Given the description of an element on the screen output the (x, y) to click on. 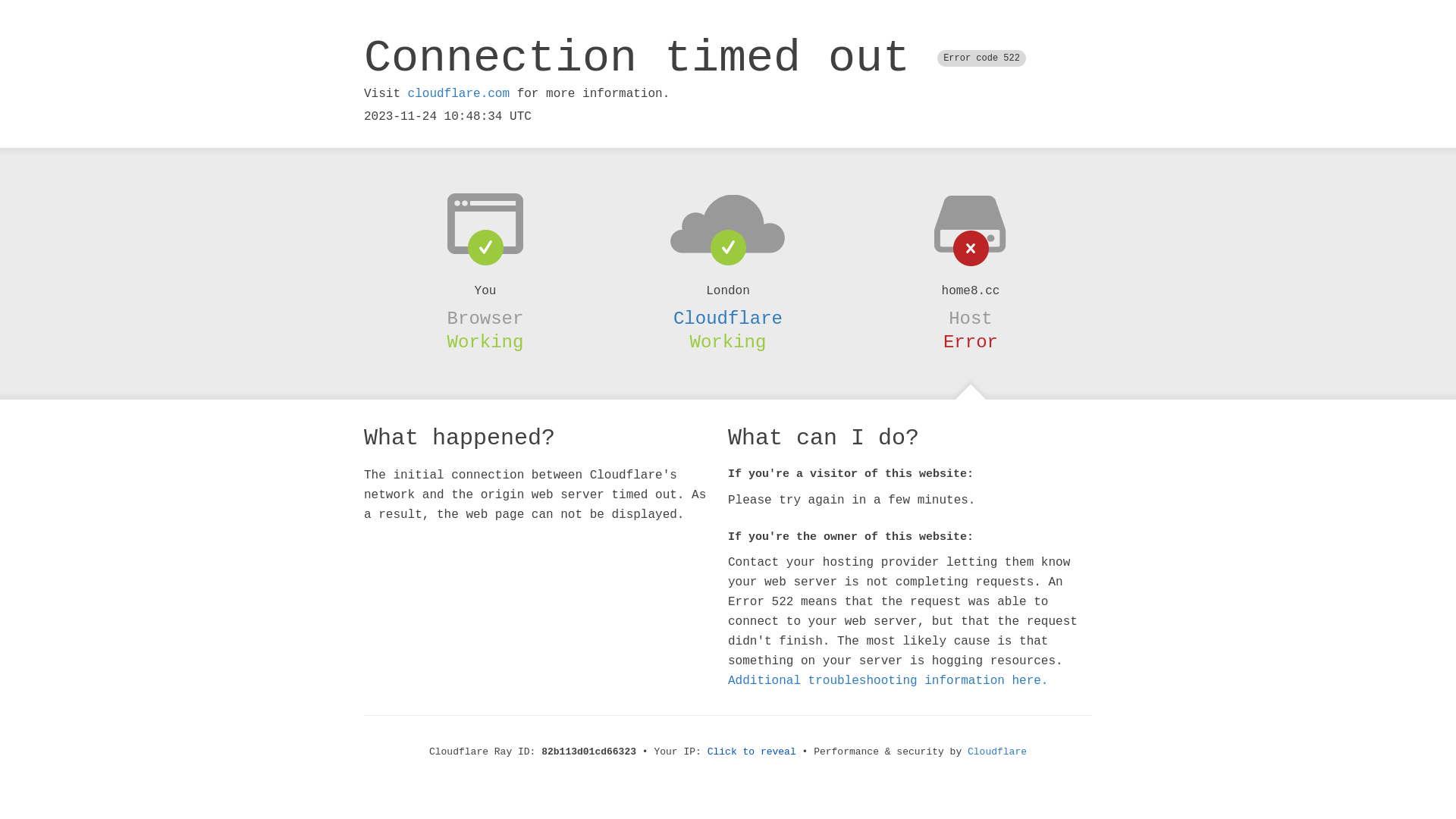
Cloudflare Element type: text (727, 318)
Cloudflare Element type: text (996, 751)
cloudflare.com Element type: text (458, 93)
Additional troubleshooting information here. Element type: text (888, 680)
Click to reveal Element type: text (751, 751)
